Given the description of an element on the screen output the (x, y) to click on. 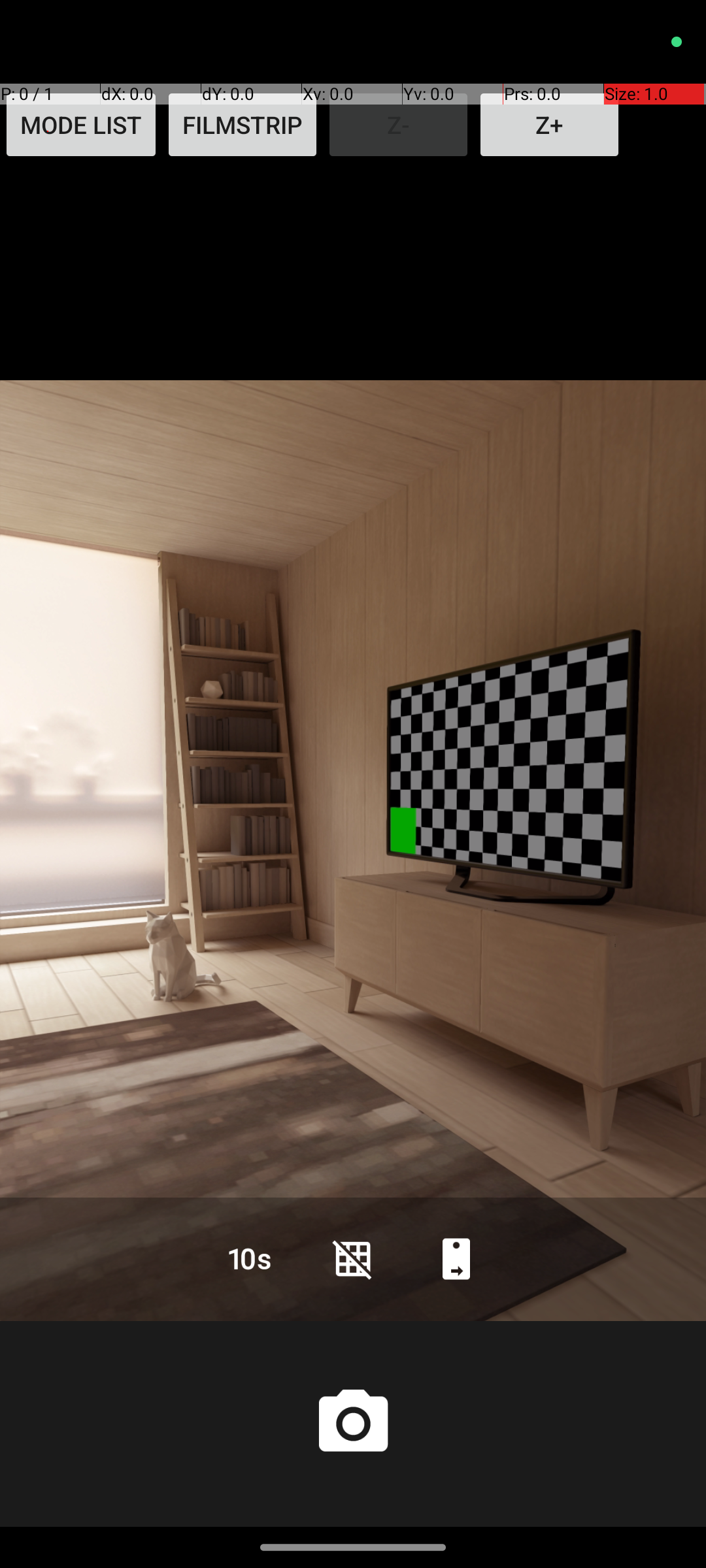
Countdown timer duration is set to 10 seconds Element type: android.widget.ImageButton (249, 1258)
Grid lines off Element type: android.widget.ImageButton (352, 1258)
